Given the description of an element on the screen output the (x, y) to click on. 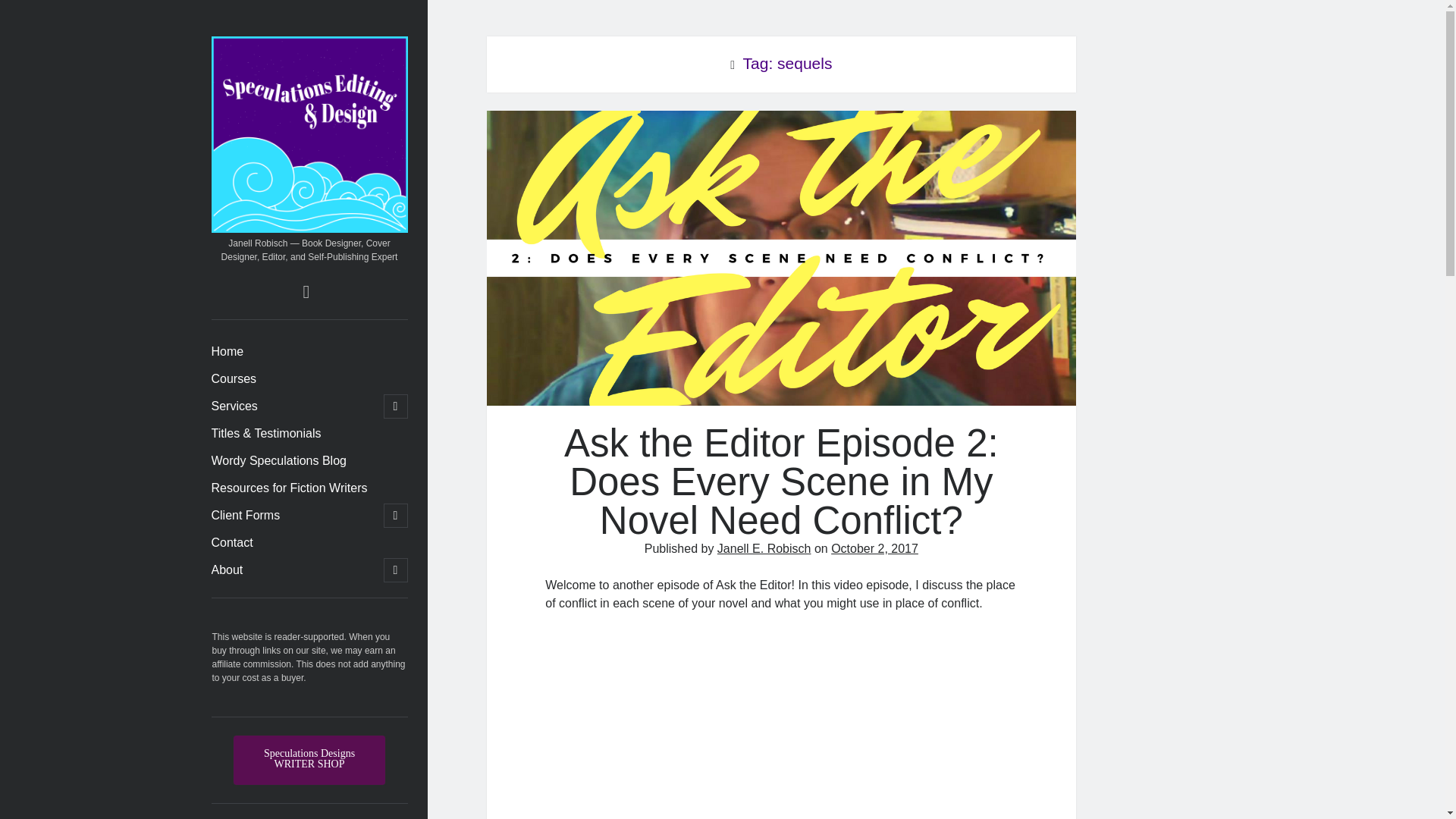
About (227, 570)
open child menu (395, 515)
Speculations Editing (309, 225)
Gifts and Decor for Writers and More (308, 759)
Speculations Designs WRITER SHOP (308, 759)
open child menu (395, 569)
Courses (233, 379)
Client Forms (245, 515)
Home (227, 352)
Wordy Speculations Blog (278, 461)
Contact (231, 542)
Services (234, 406)
Resources for Fiction Writers (288, 488)
open child menu (395, 405)
